Given the description of an element on the screen output the (x, y) to click on. 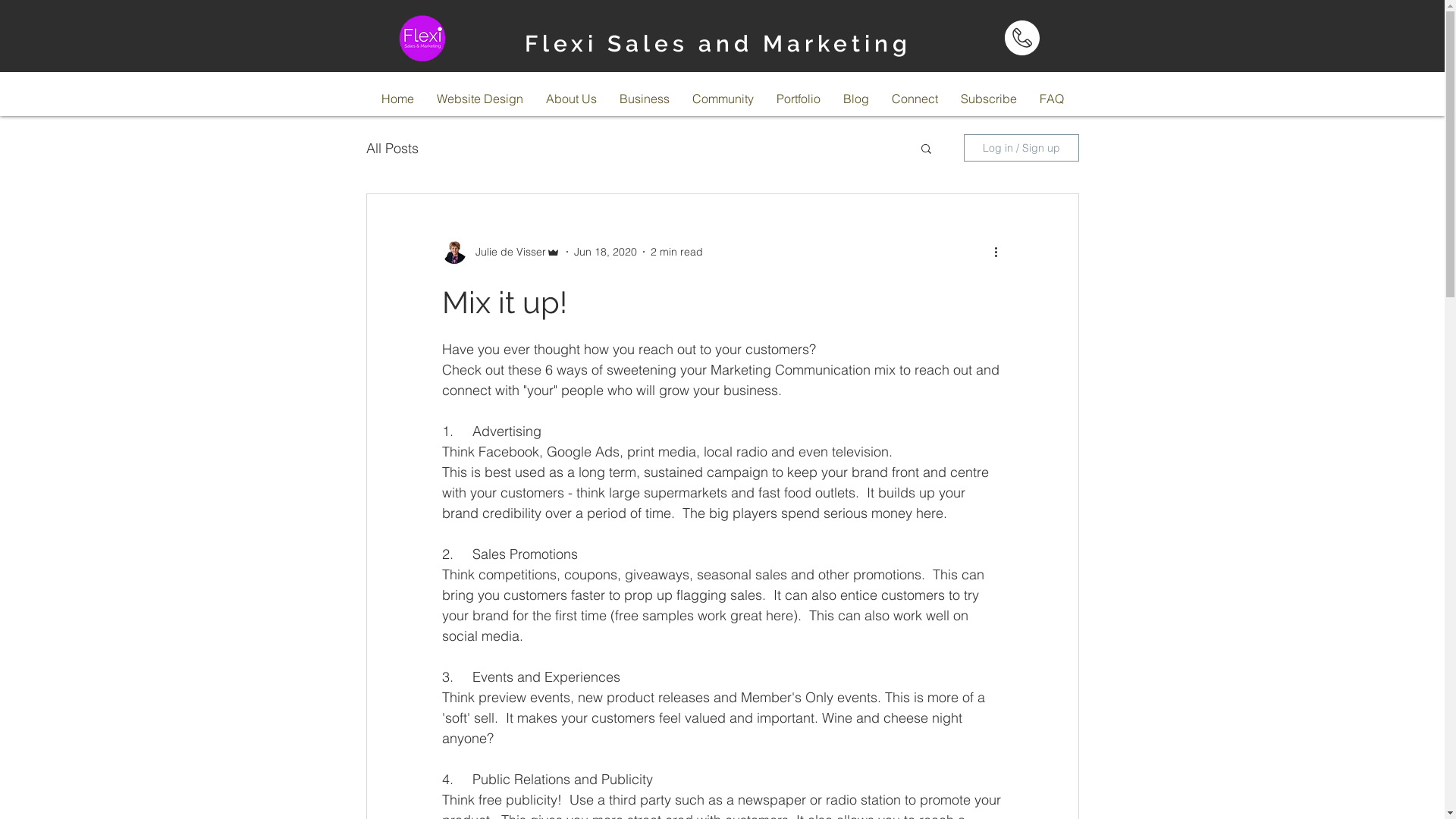
All Posts Element type: text (391, 147)
Blog Element type: text (855, 98)
Community Element type: text (722, 98)
FAQ Element type: text (1051, 98)
Connect Element type: text (913, 98)
Website Design Element type: text (478, 98)
About Us Element type: text (570, 98)
Home Element type: text (397, 98)
Subscribe Element type: text (988, 98)
Log in / Sign up Element type: text (1020, 147)
Business Element type: text (644, 98)
Portfolio Element type: text (797, 98)
